Given the description of an element on the screen output the (x, y) to click on. 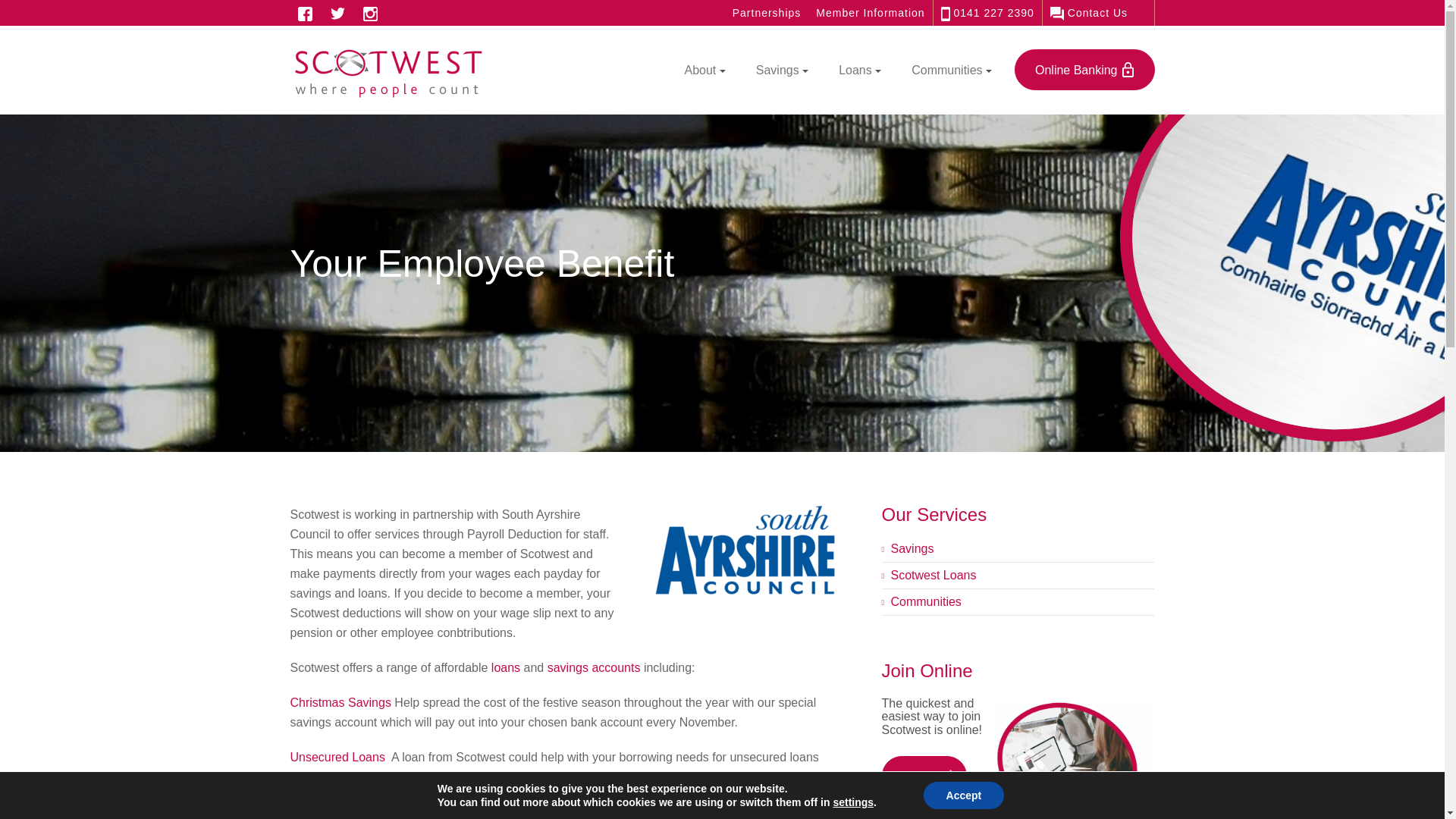
Partnerships (767, 12)
Partnerships (767, 12)
Savings (777, 69)
Member Information (869, 12)
About (700, 69)
About (700, 69)
Member Information (869, 12)
Contact Us (1087, 12)
0141 227 2390 (986, 12)
